Given the description of an element on the screen output the (x, y) to click on. 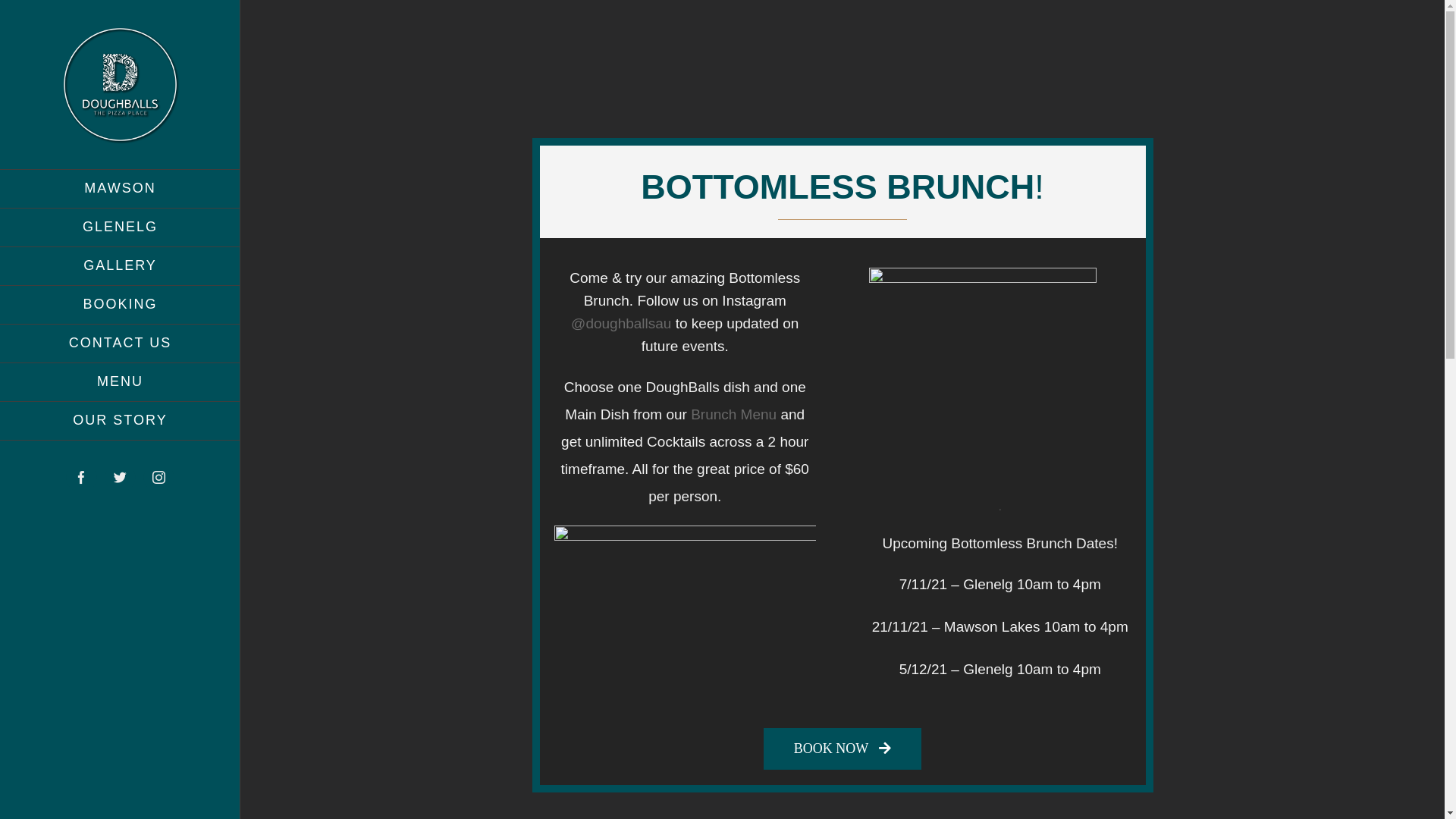
GLENELG Element type: text (120, 227)
facebook Element type: text (81, 476)
twitter Element type: text (119, 476)
@doughballsau Element type: text (621, 323)
OUR STORY Element type: text (120, 420)
MAWSON Element type: text (120, 188)
instagram Element type: text (158, 476)
CONTACT US Element type: text (120, 343)
GALLERY Element type: text (120, 266)
BOOK NOW Element type: text (842, 748)
MENU Element type: text (120, 382)
BOOKING Element type: text (120, 304)
Brunch Menu Element type: text (733, 414)
Doughballs-Mawson-Lakes-Photos-(20-of-204) Element type: hover (684, 612)
